Given the description of an element on the screen output the (x, y) to click on. 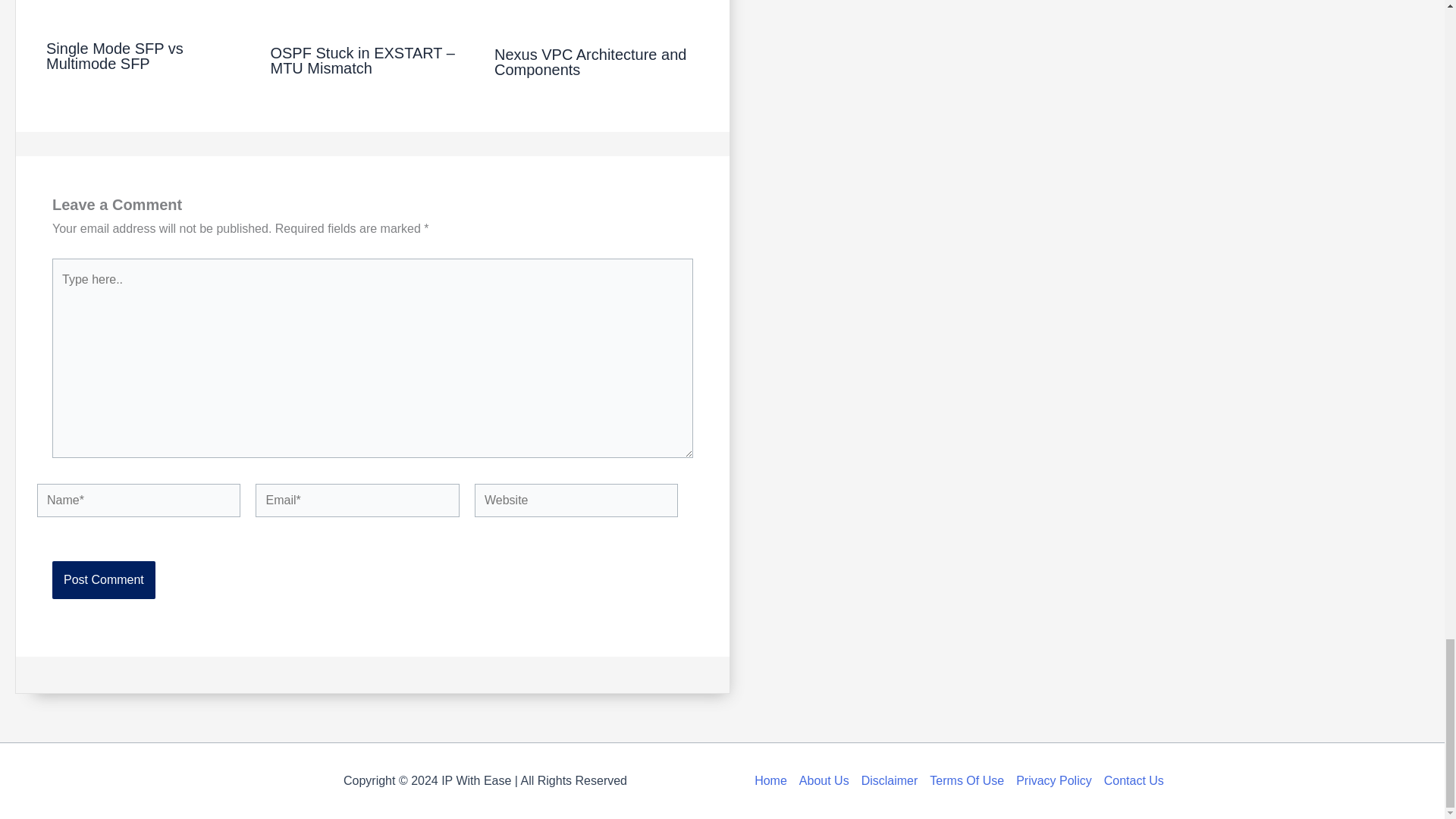
Post Comment (103, 579)
